Given the description of an element on the screen output the (x, y) to click on. 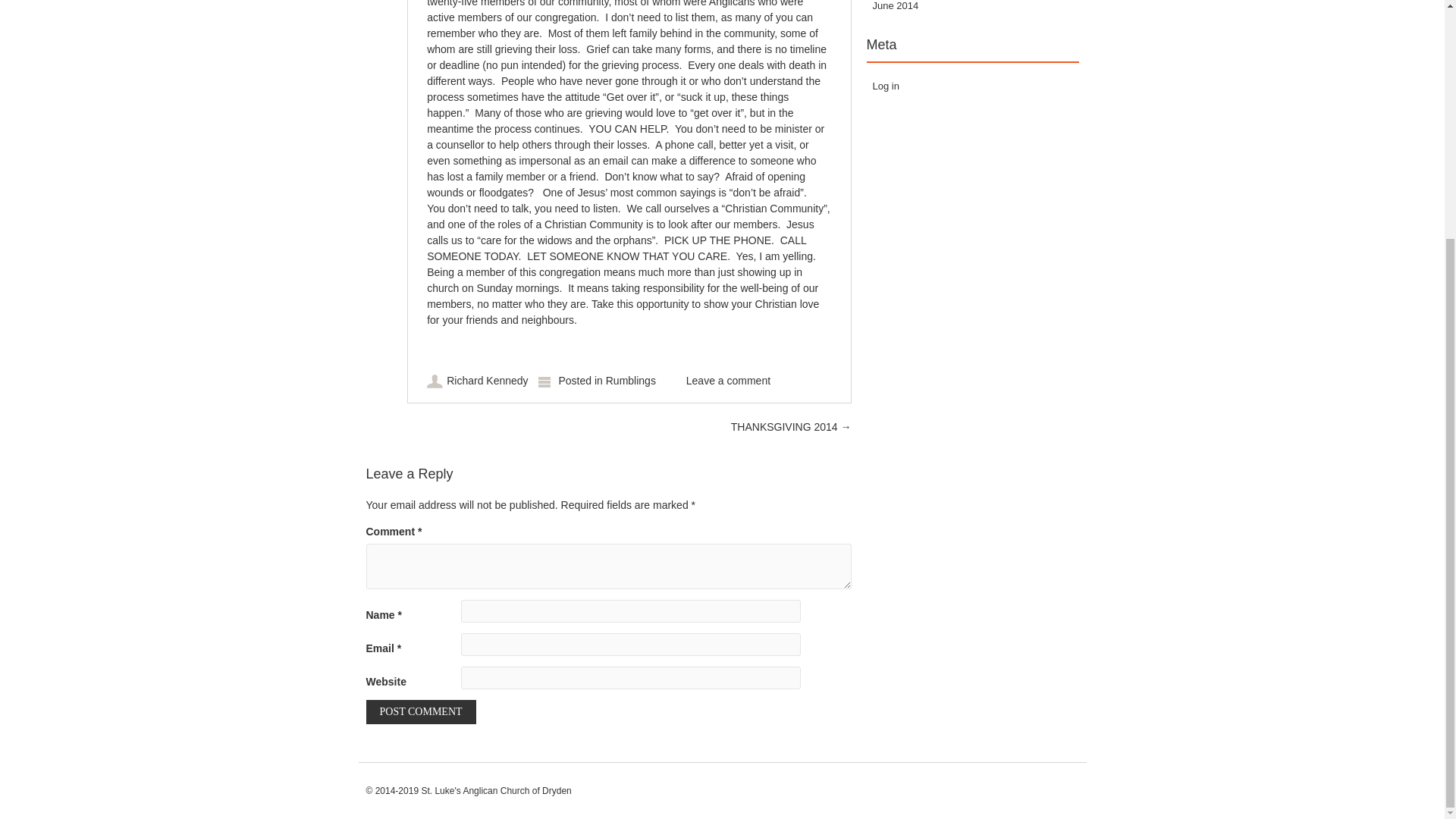
Leave a comment (727, 380)
June 2014 (895, 5)
Post Comment (420, 711)
Rumblings (630, 380)
Log in (885, 85)
Post Comment (420, 711)
Richard Kennedy (486, 380)
